Given the description of an element on the screen output the (x, y) to click on. 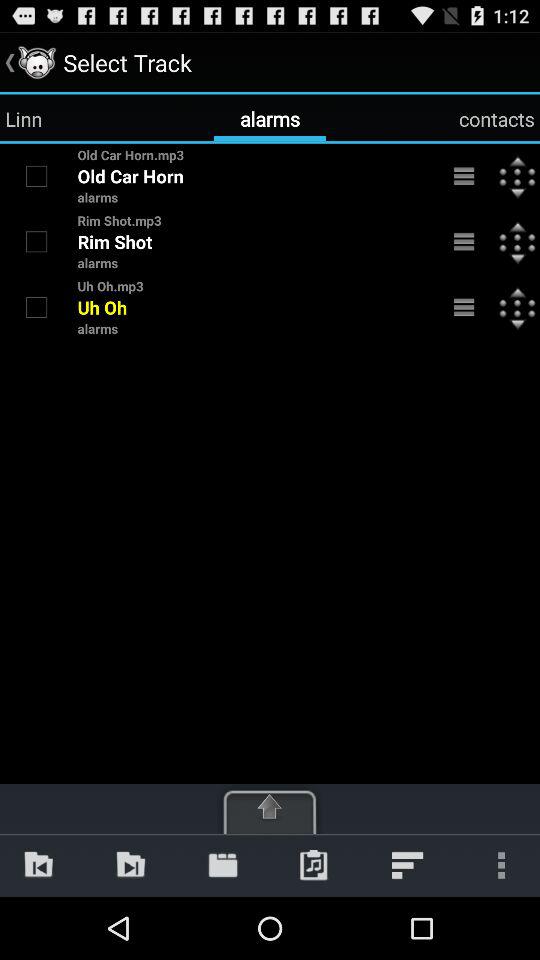
select rim shot alarm (36, 241)
